Given the description of an element on the screen output the (x, y) to click on. 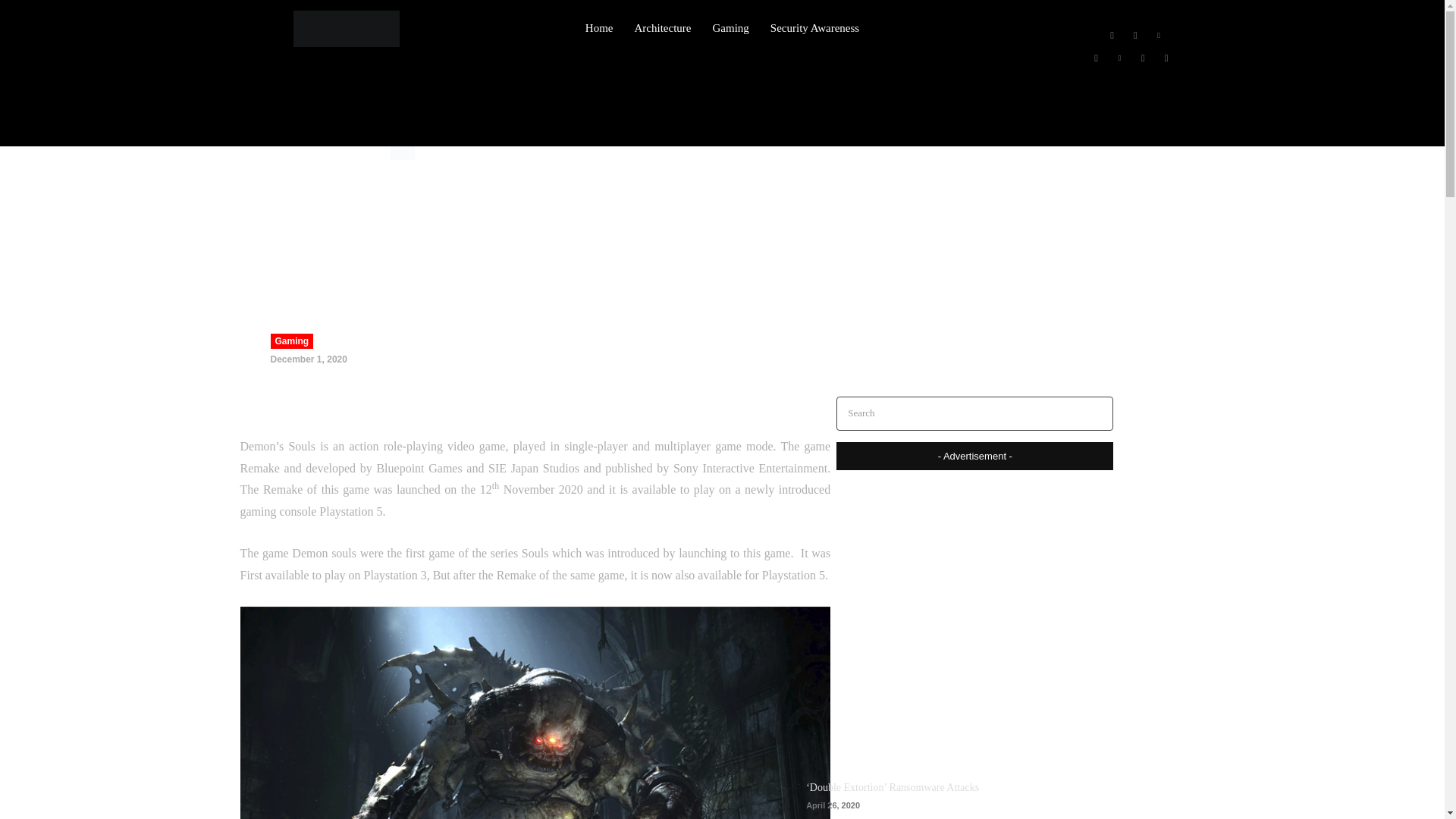
Home (281, 153)
Security Awareness (814, 28)
Instagram (1134, 35)
Paypal (1095, 57)
Gaming (320, 153)
Architecture (662, 28)
Gaming (291, 340)
Facebook (1111, 35)
Linkedin (1159, 35)
